Given the description of an element on the screen output the (x, y) to click on. 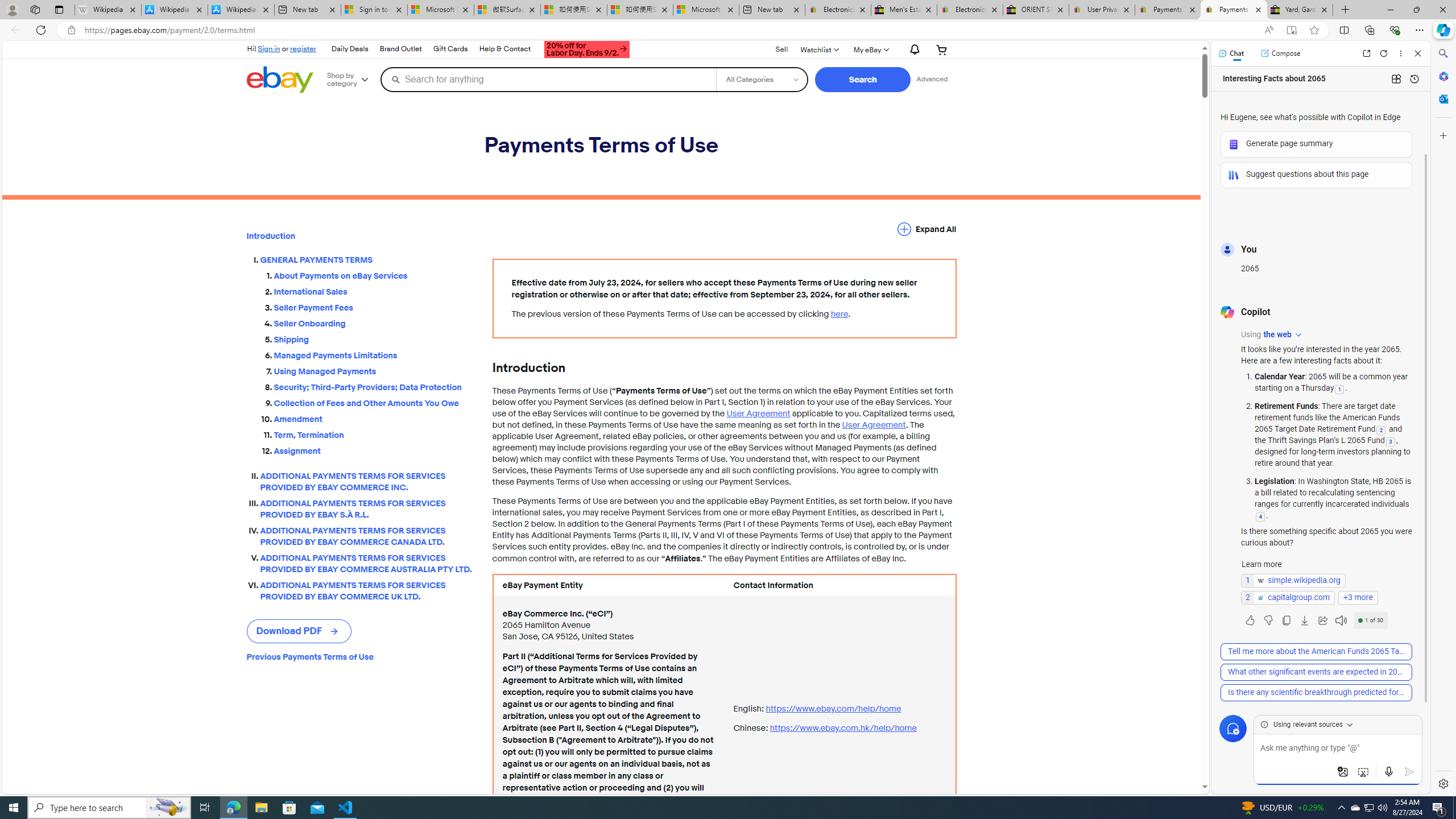
Seller Payment Fees (373, 305)
Wikipedia - Sleeping (107, 9)
International Sales (373, 291)
Seller Onboarding (373, 323)
Using Managed Payments (373, 371)
register (303, 48)
Managed Payments Limitations (373, 353)
User Privacy Notice | eBay (1102, 9)
Enter Immersive Reader (F9) (1291, 29)
